Given the description of an element on the screen output the (x, y) to click on. 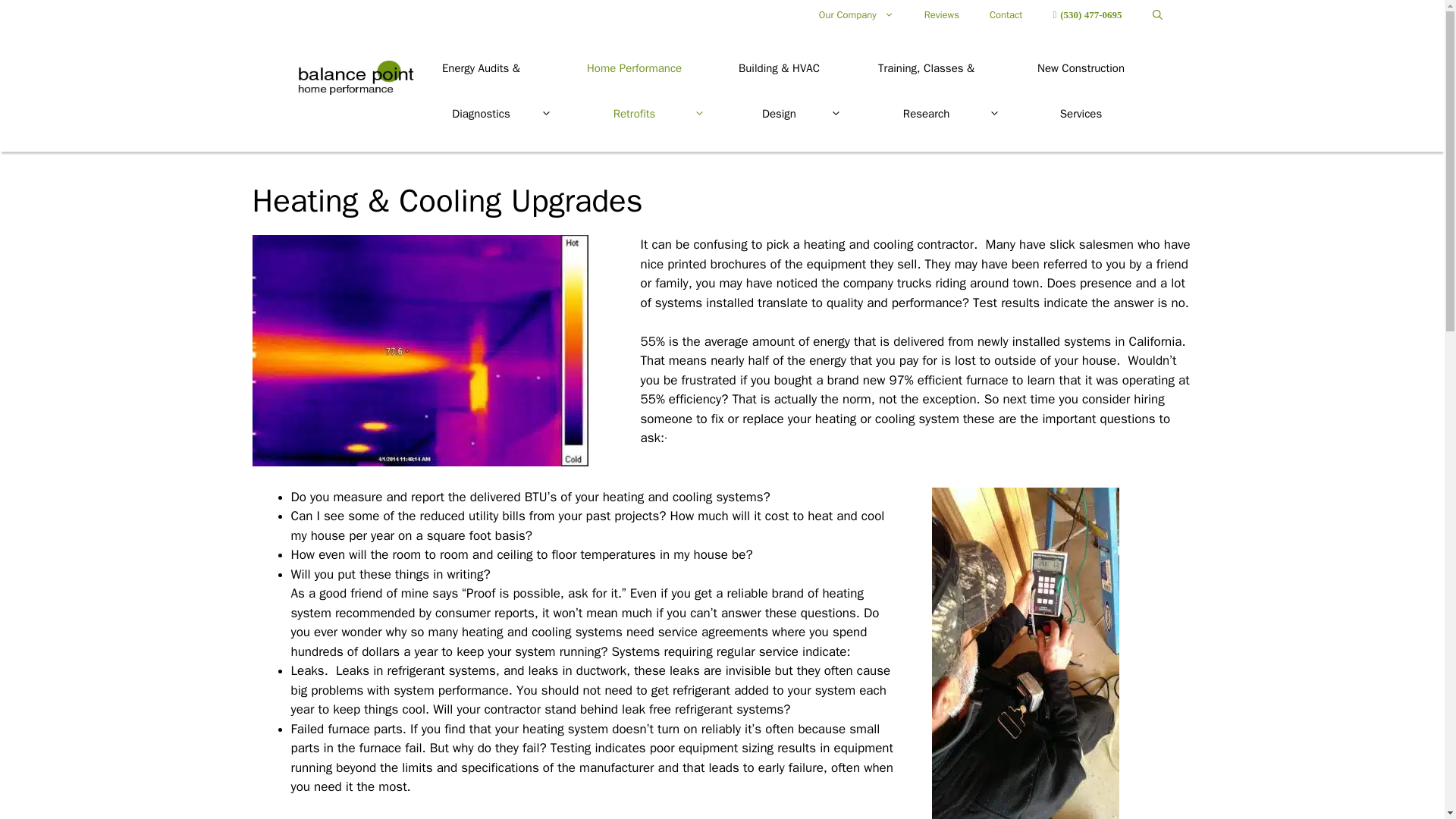
Reviews (941, 15)
Our Company (855, 15)
New Construction Services (1080, 90)
Home Performance Retrofits (643, 90)
Contact (1006, 15)
